Given the description of an element on the screen output the (x, y) to click on. 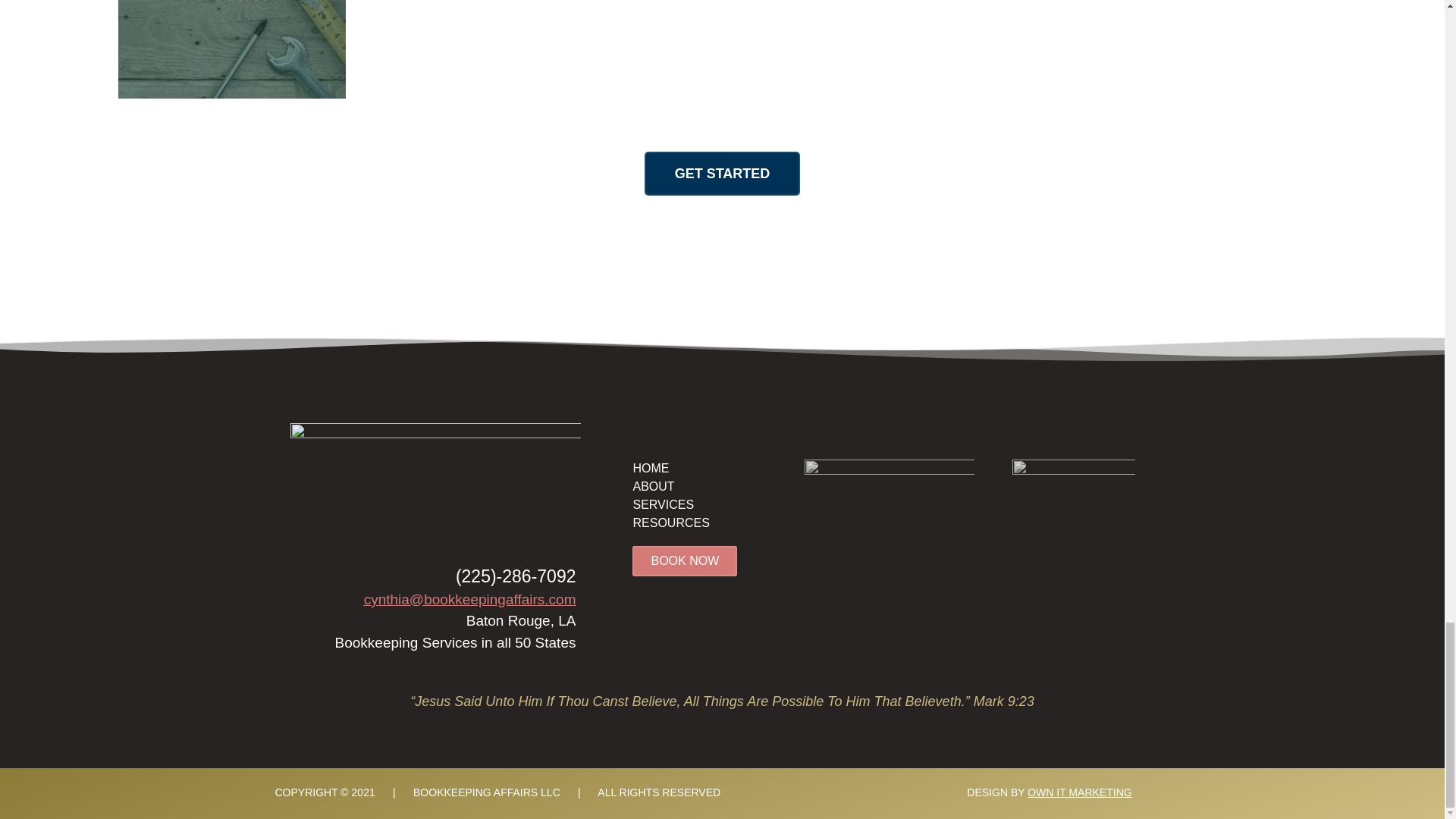
SERVICES (662, 504)
BOOK NOW (683, 561)
RESOURCES (670, 522)
OWN IT MARKETING (1079, 792)
GET STARTED (722, 173)
HOME (649, 468)
ABOUT (652, 486)
